Given the description of an element on the screen output the (x, y) to click on. 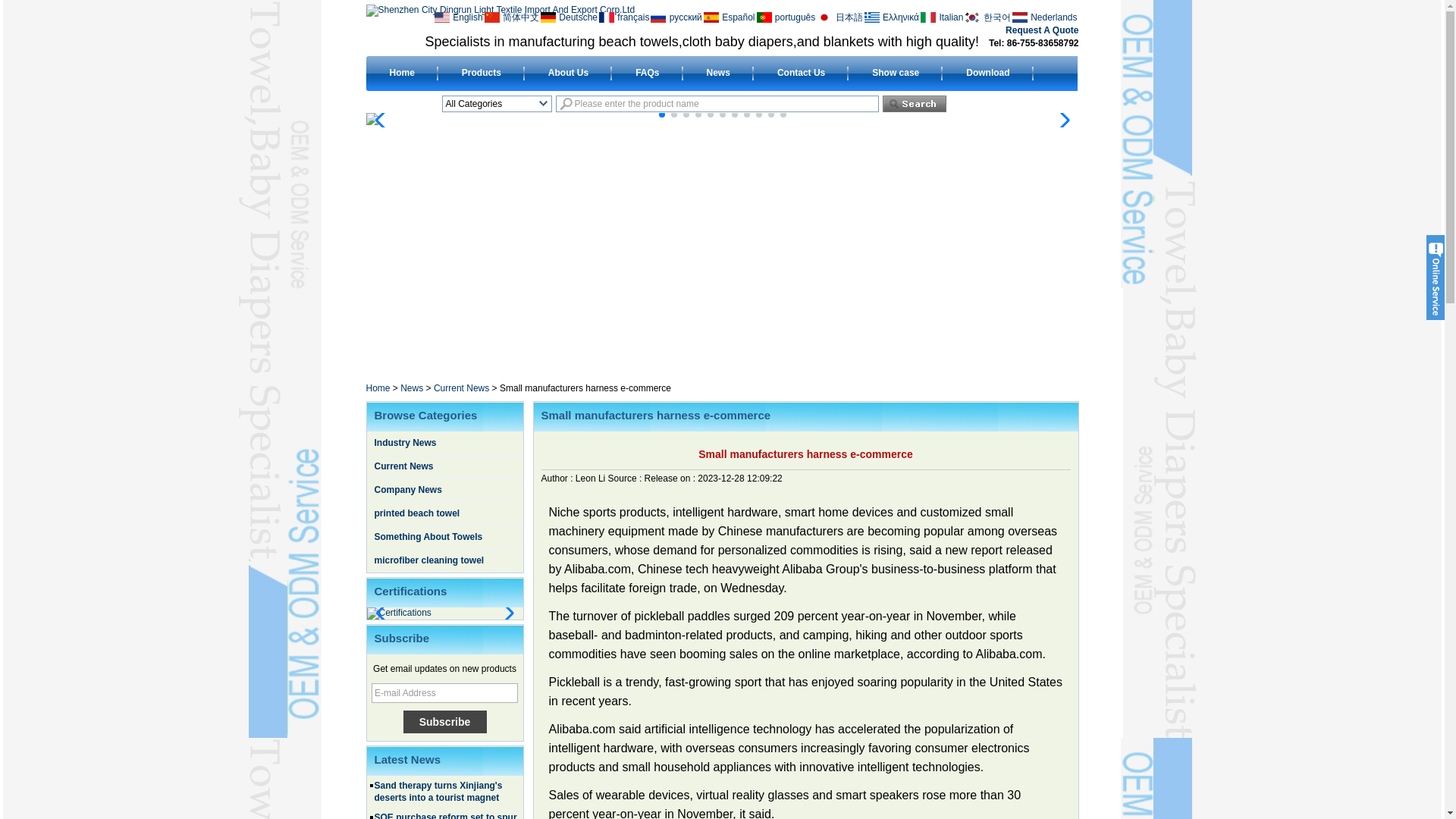
Deutsche (569, 16)
Nederlands (1044, 16)
China printed beach towel manufacturer (417, 512)
Products (480, 72)
China Current News manufacturer (403, 466)
Please enter the product name (715, 103)
Italian (941, 16)
Search (914, 103)
Deutsche (569, 16)
